Given the description of an element on the screen output the (x, y) to click on. 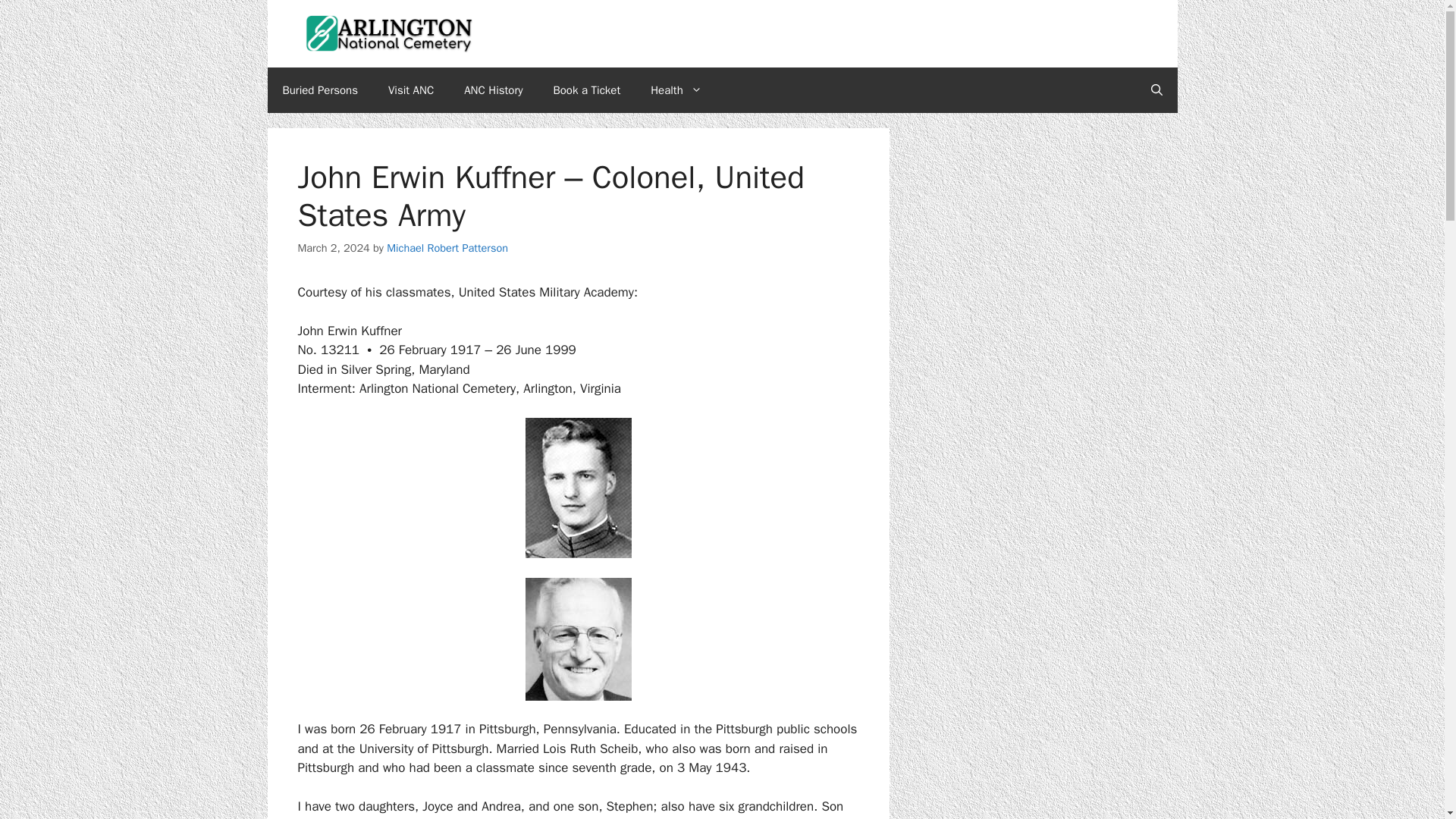
ANC History (492, 90)
Visit ANC (410, 90)
Buried Persons (319, 90)
Buried Persons (319, 90)
Book a Ticket (587, 90)
View all posts by Michael Robert Patterson (447, 247)
Health (675, 90)
